Given the description of an element on the screen output the (x, y) to click on. 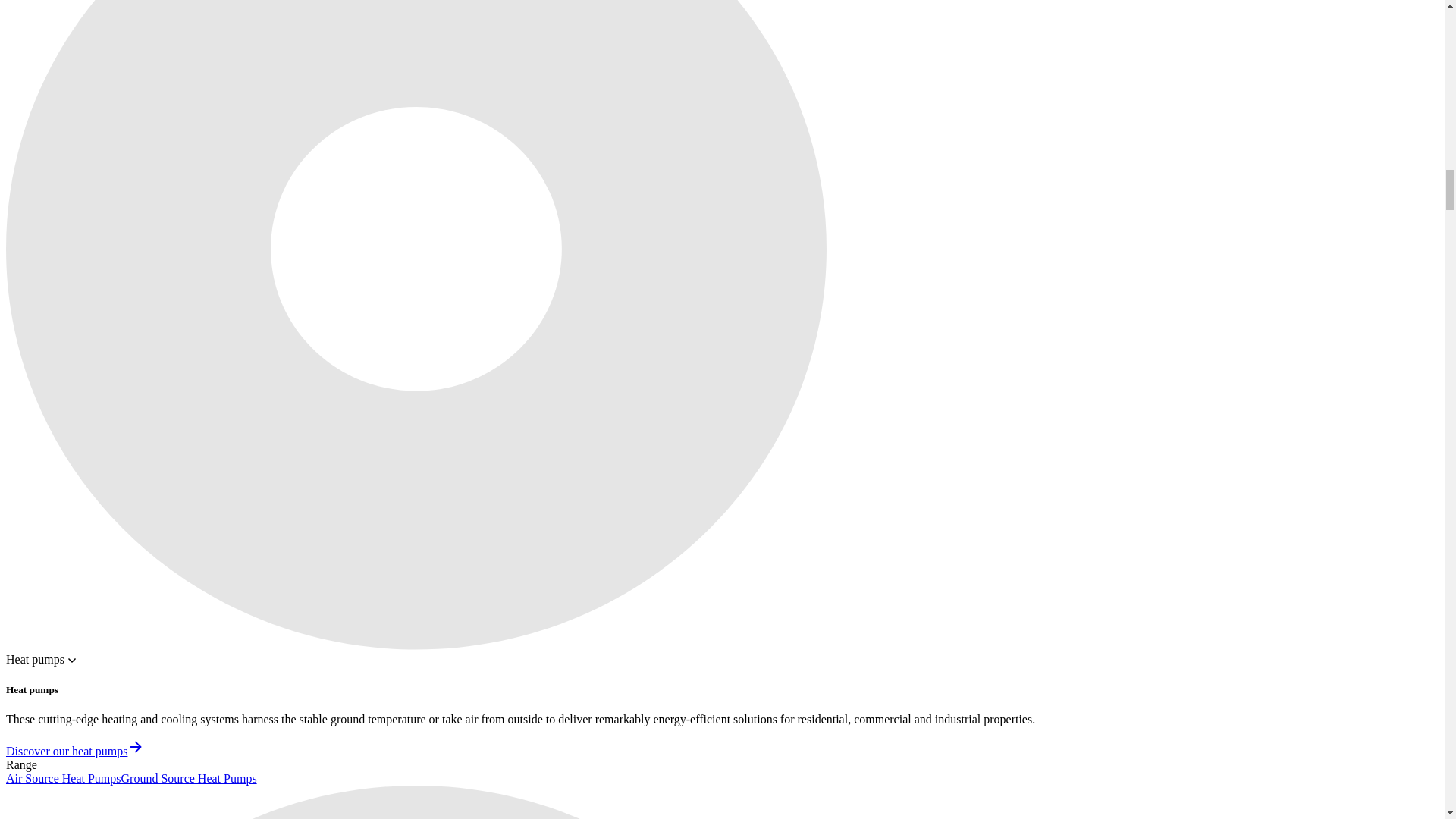
Air Source Heat Pumps (62, 778)
Ground Source Heat Pumps (188, 778)
Discover our heat pumps (74, 750)
